Given the description of an element on the screen output the (x, y) to click on. 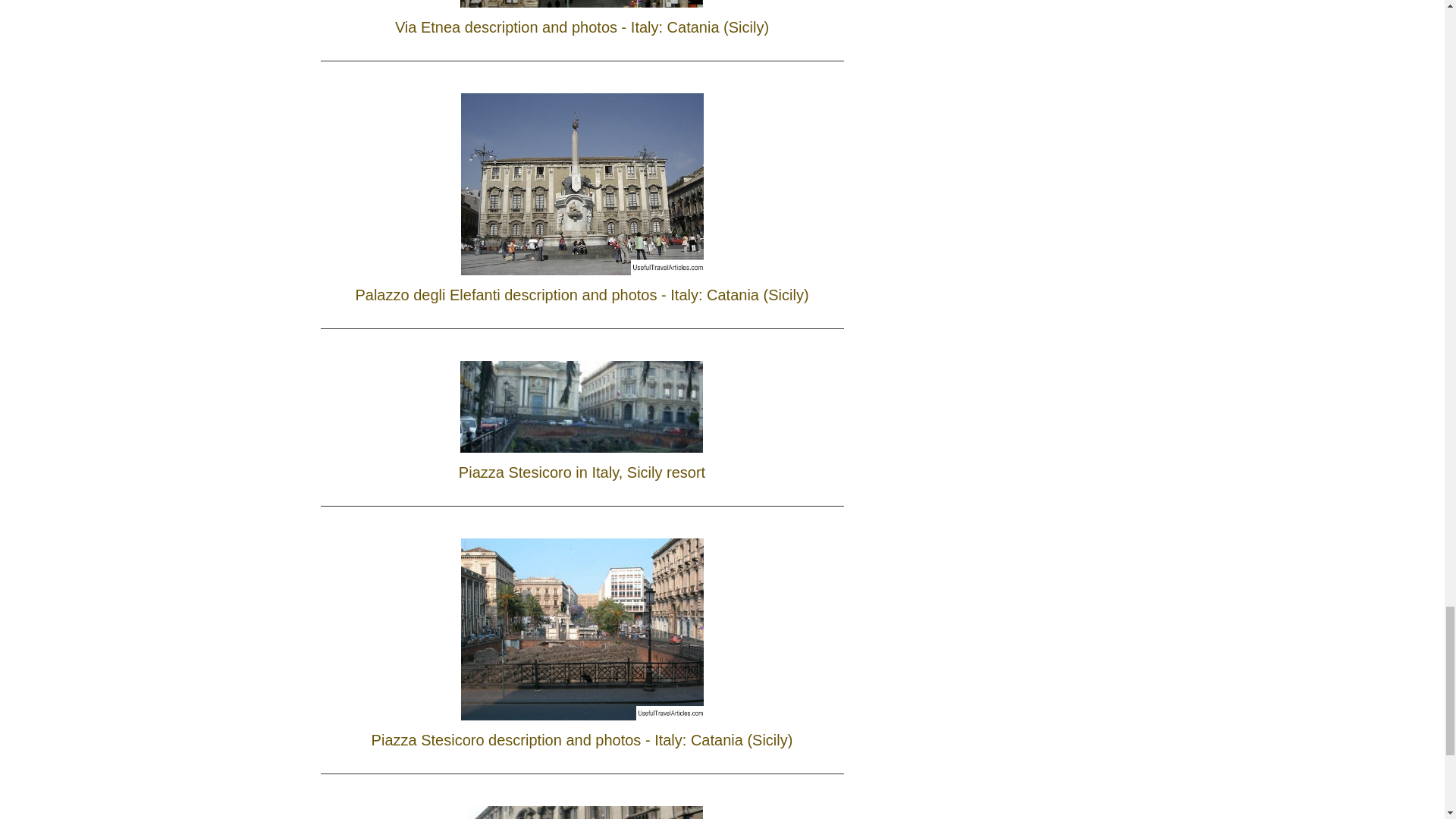
Piazza Stesicoro in Italy, Sicily resort (581, 416)
Palazzo Delhi Elefanti in Italy, Sicily resort (582, 804)
